Given the description of an element on the screen output the (x, y) to click on. 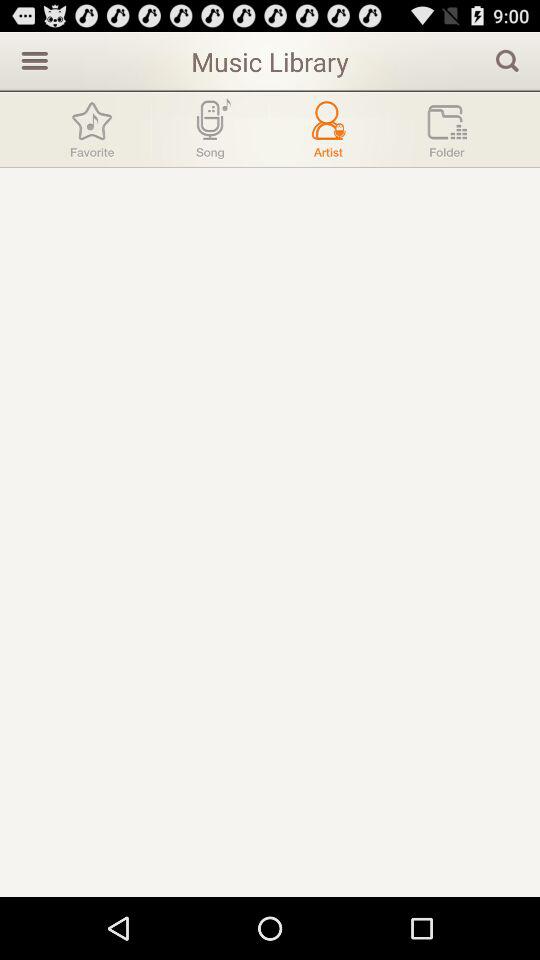
click the app to the right of the music library icon (507, 60)
